Given the description of an element on the screen output the (x, y) to click on. 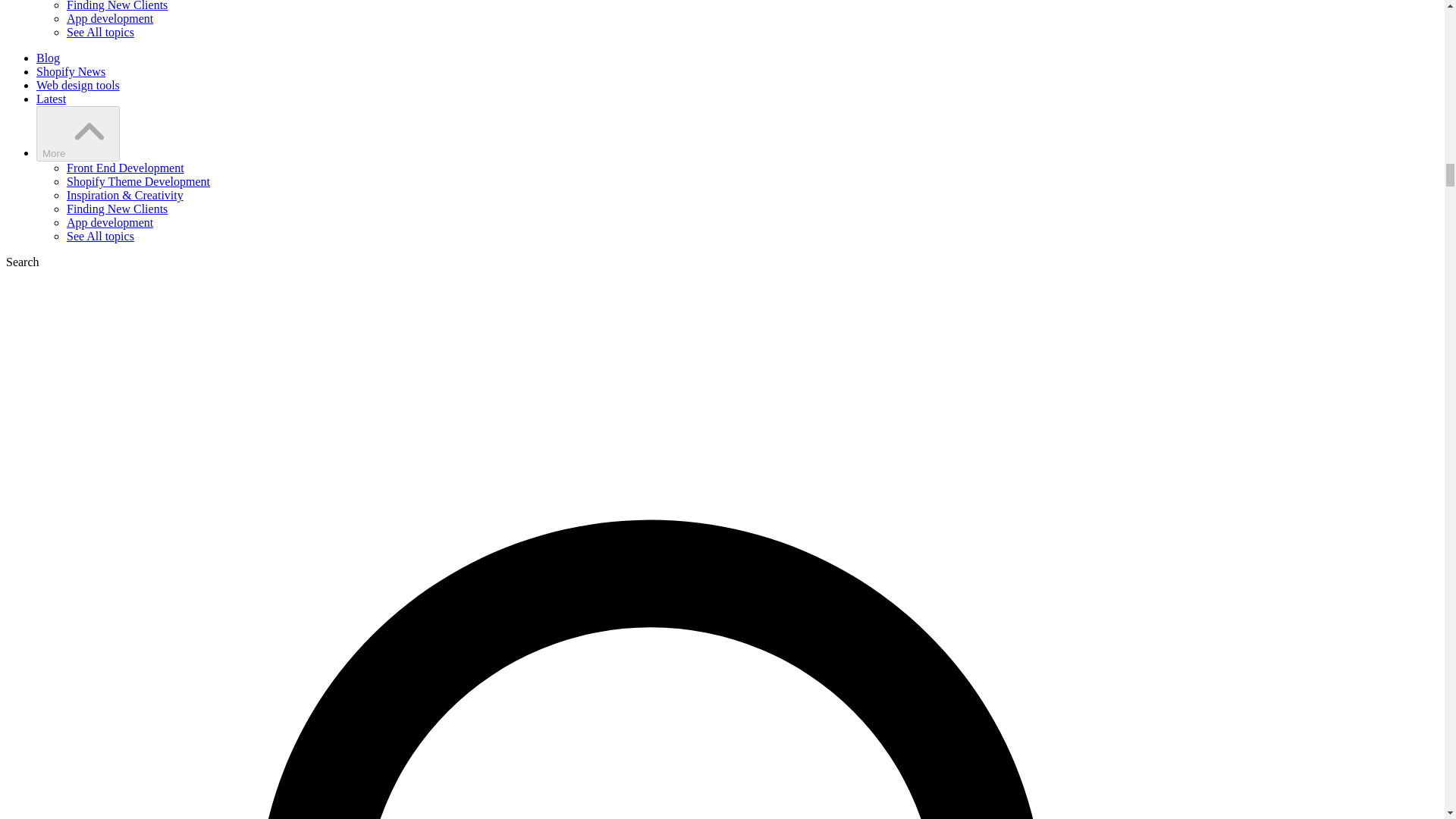
Finding New Clients (116, 5)
More (77, 133)
Web design tools (77, 84)
App development (109, 18)
Latest (50, 98)
Finding New Clients (116, 208)
App development (109, 222)
Blog (47, 57)
See All topics (99, 31)
See All topics (99, 236)
Shopify News (70, 71)
Front End Development (125, 167)
Shopify Theme Development (137, 181)
